Given the description of an element on the screen output the (x, y) to click on. 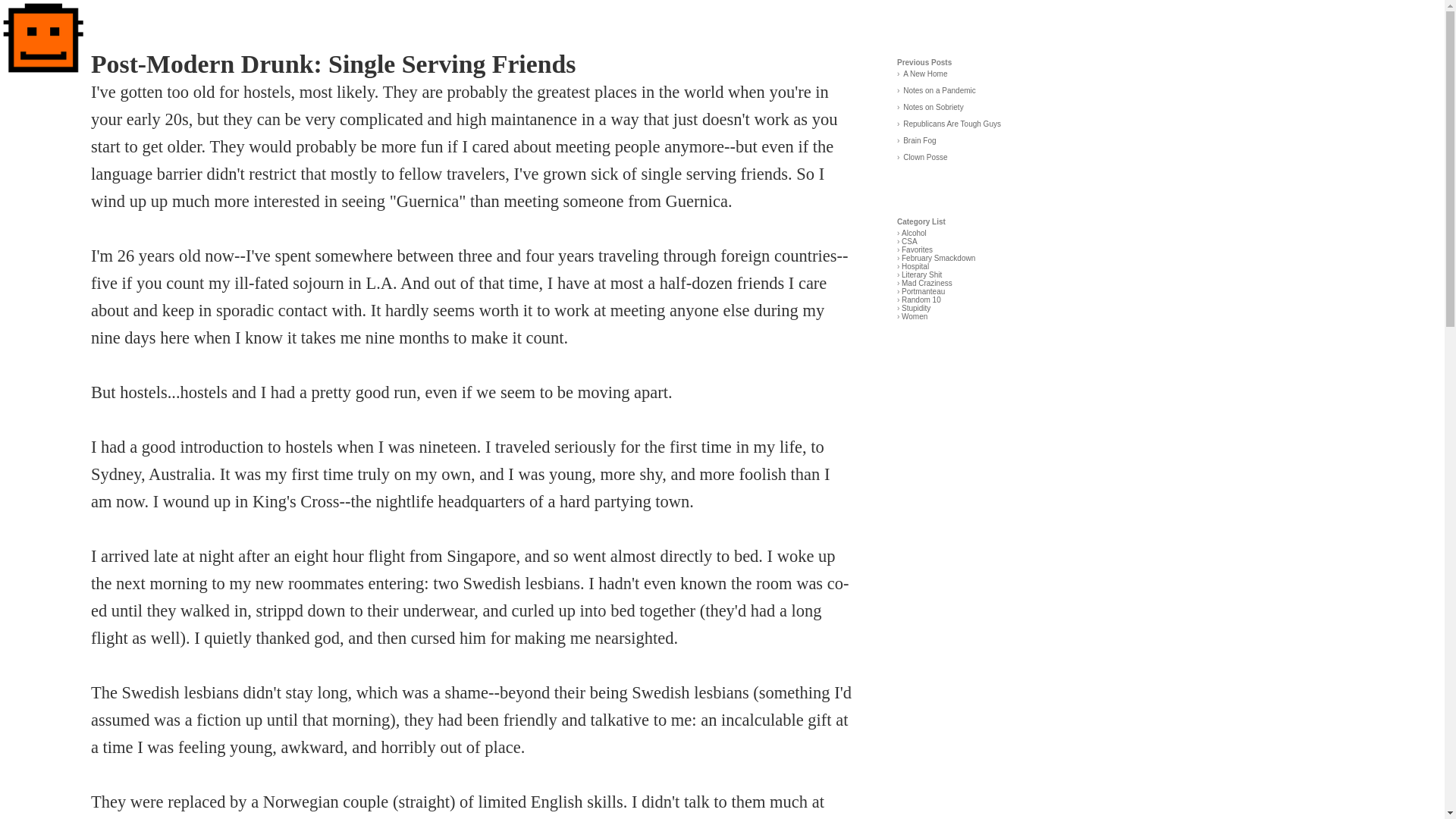
Post-Modern Drunk: Single Serving Friends (332, 63)
Notes on Sobriety (932, 107)
Notes on a Pandemic (938, 90)
Republicans Are Tough Guys (951, 123)
A New Home (924, 73)
